Given the description of an element on the screen output the (x, y) to click on. 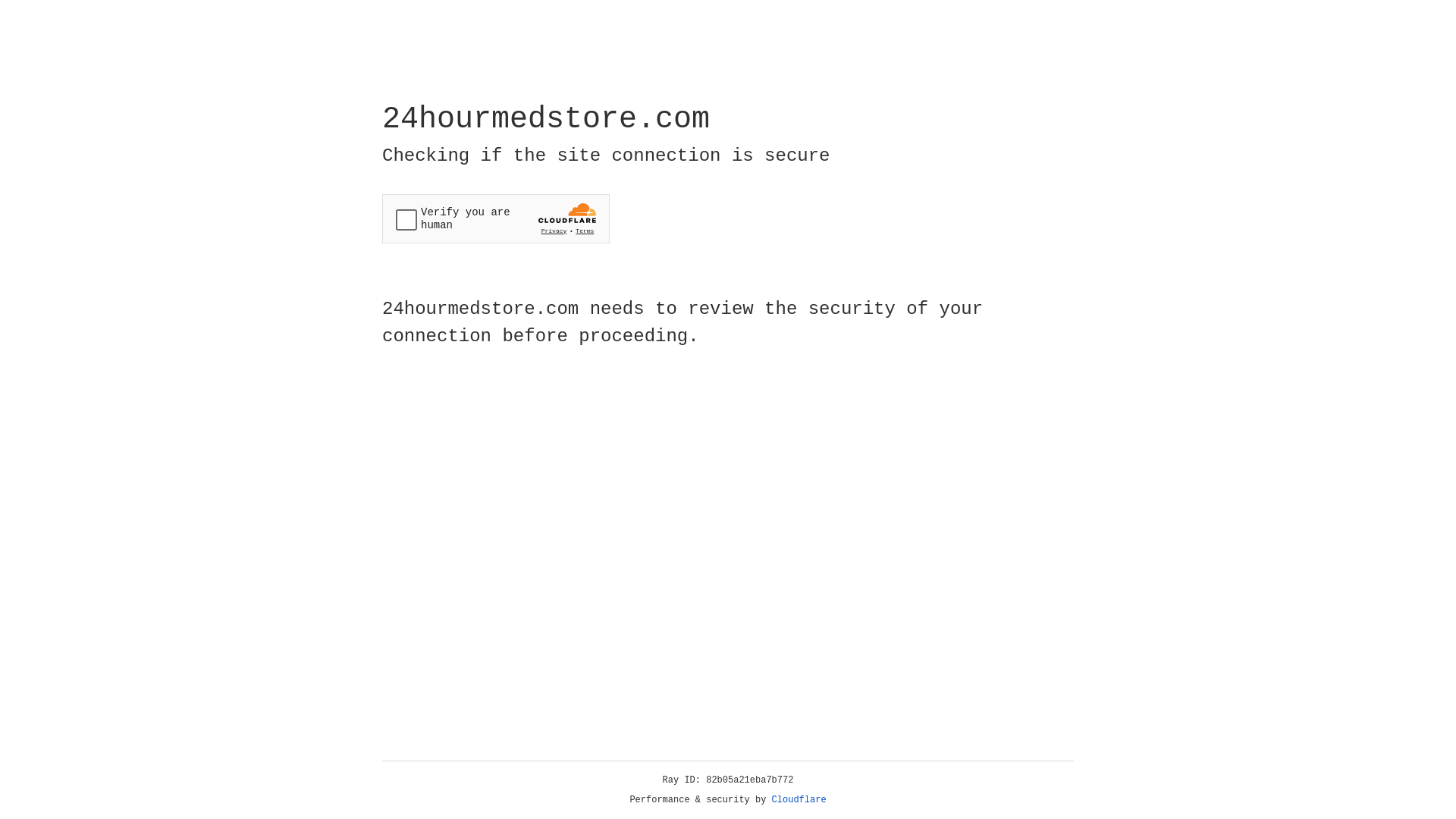
Widget containing a Cloudflare security challenge Element type: hover (495, 218)
Cloudflare Element type: text (798, 799)
